Given the description of an element on the screen output the (x, y) to click on. 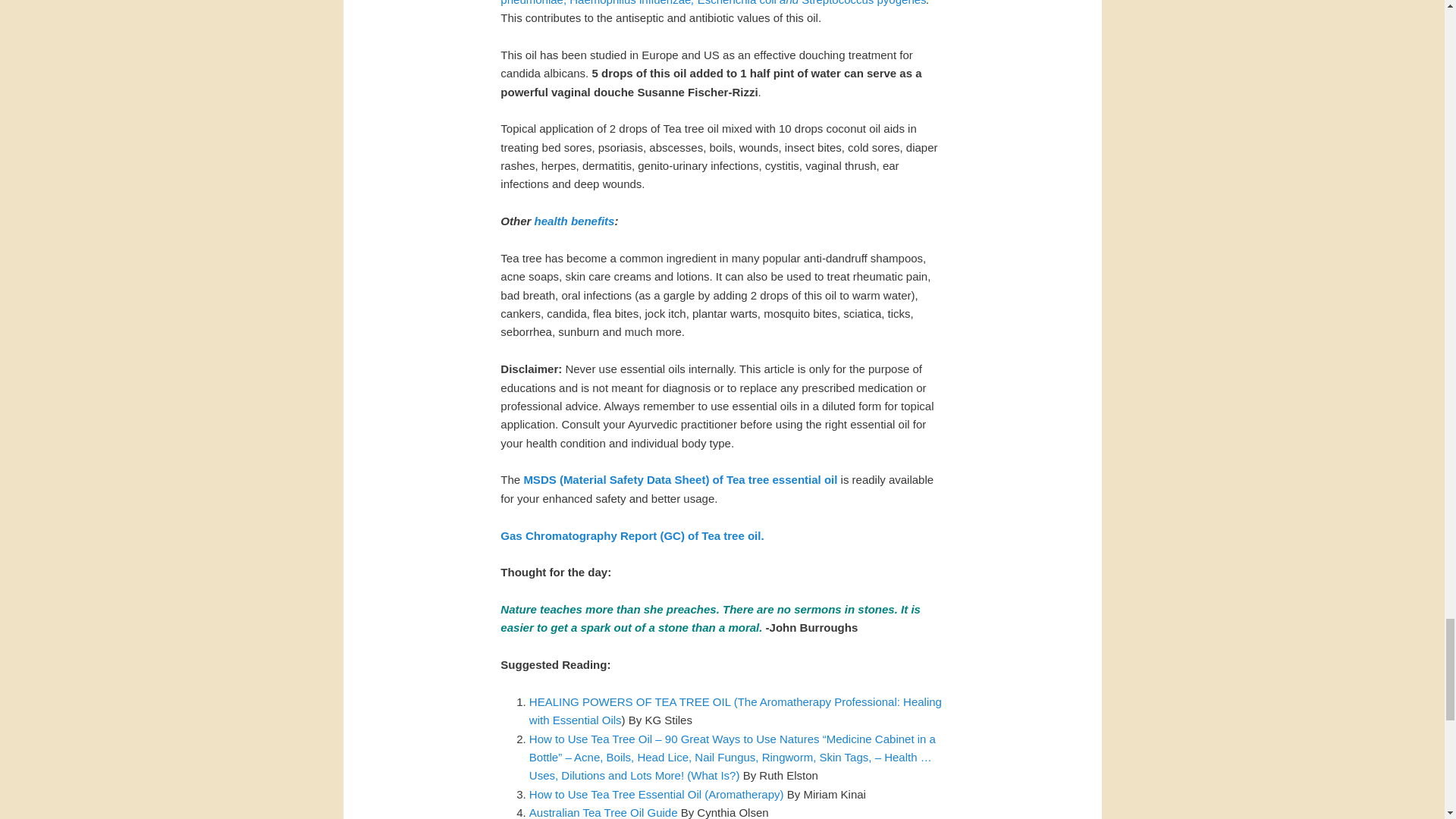
Australian Tea Tree Oil Guide (603, 812)
health benefits (574, 220)
